Given the description of an element on the screen output the (x, y) to click on. 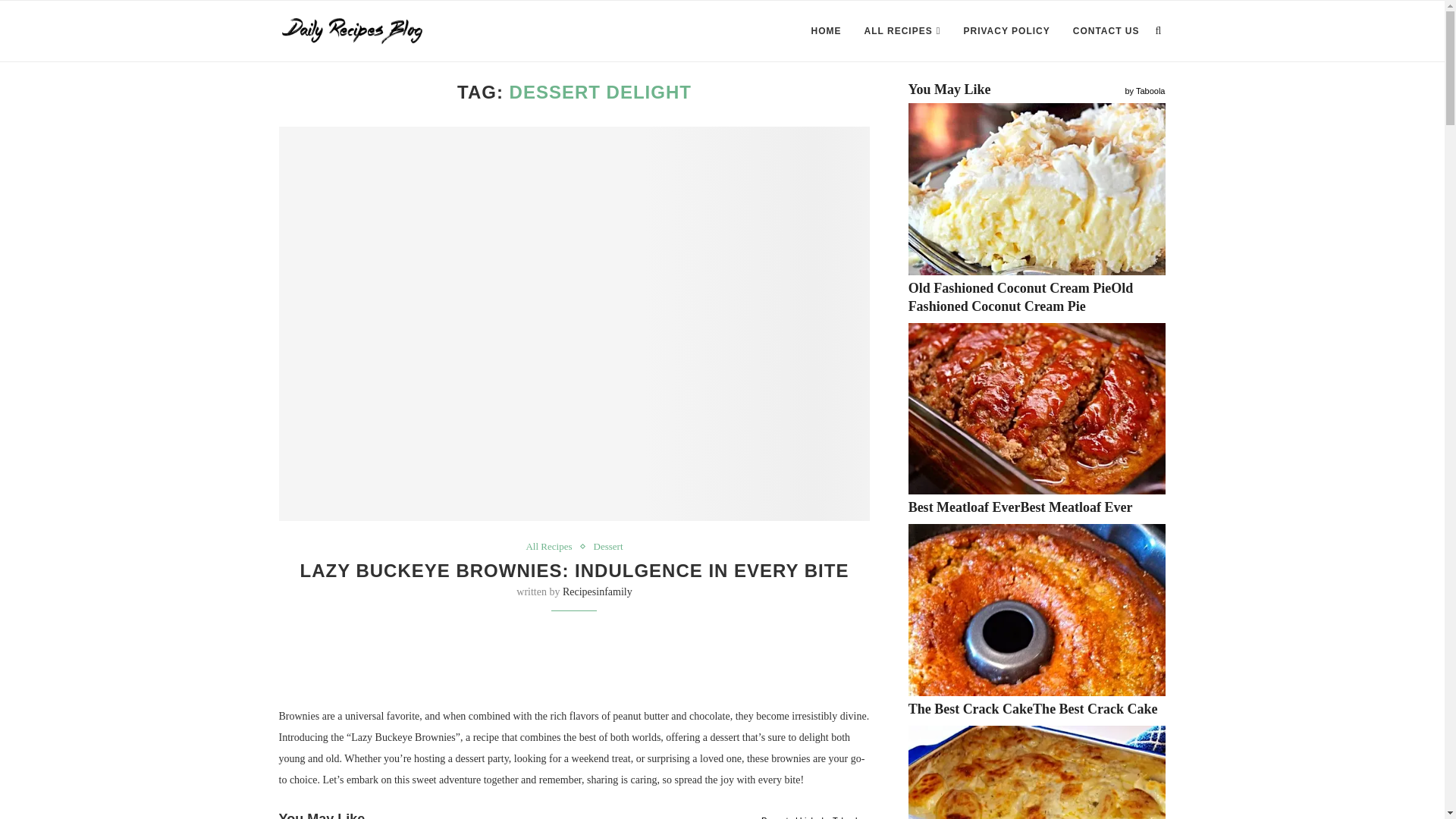
LAZY BUCKEYE BROWNIES: INDULGENCE IN EVERY BITE (573, 570)
CONTACT US (1106, 30)
ALL RECIPES (902, 30)
PRIVACY POLICY (1005, 30)
All Recipes (552, 546)
Advertisement (574, 662)
Recipesinfamily (596, 591)
by Taboola (841, 815)
Promoted Links (789, 815)
Dessert (607, 546)
